Given the description of an element on the screen output the (x, y) to click on. 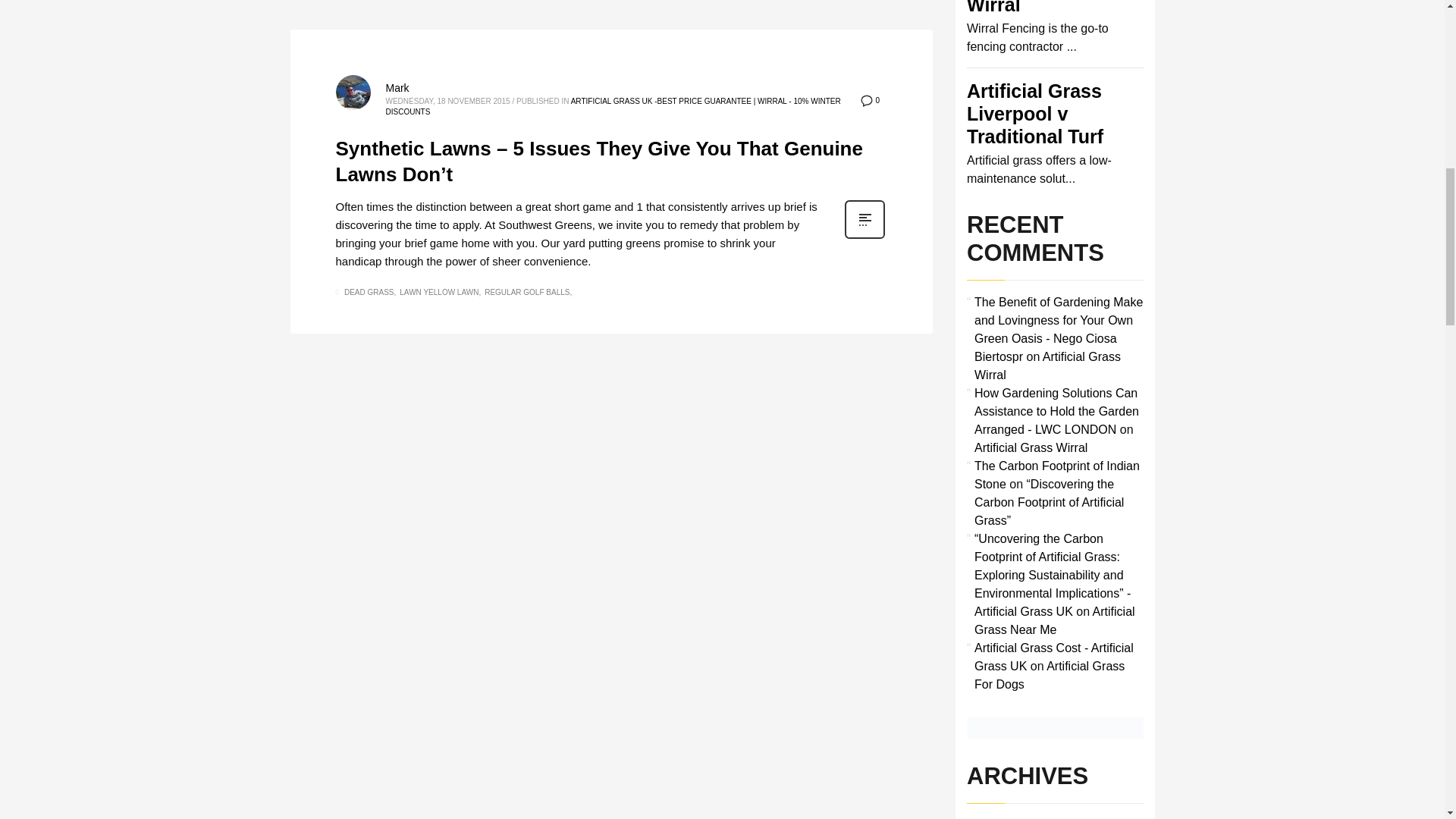
No Comments (869, 100)
Posts by Mark (397, 87)
Read more (864, 236)
